Given the description of an element on the screen output the (x, y) to click on. 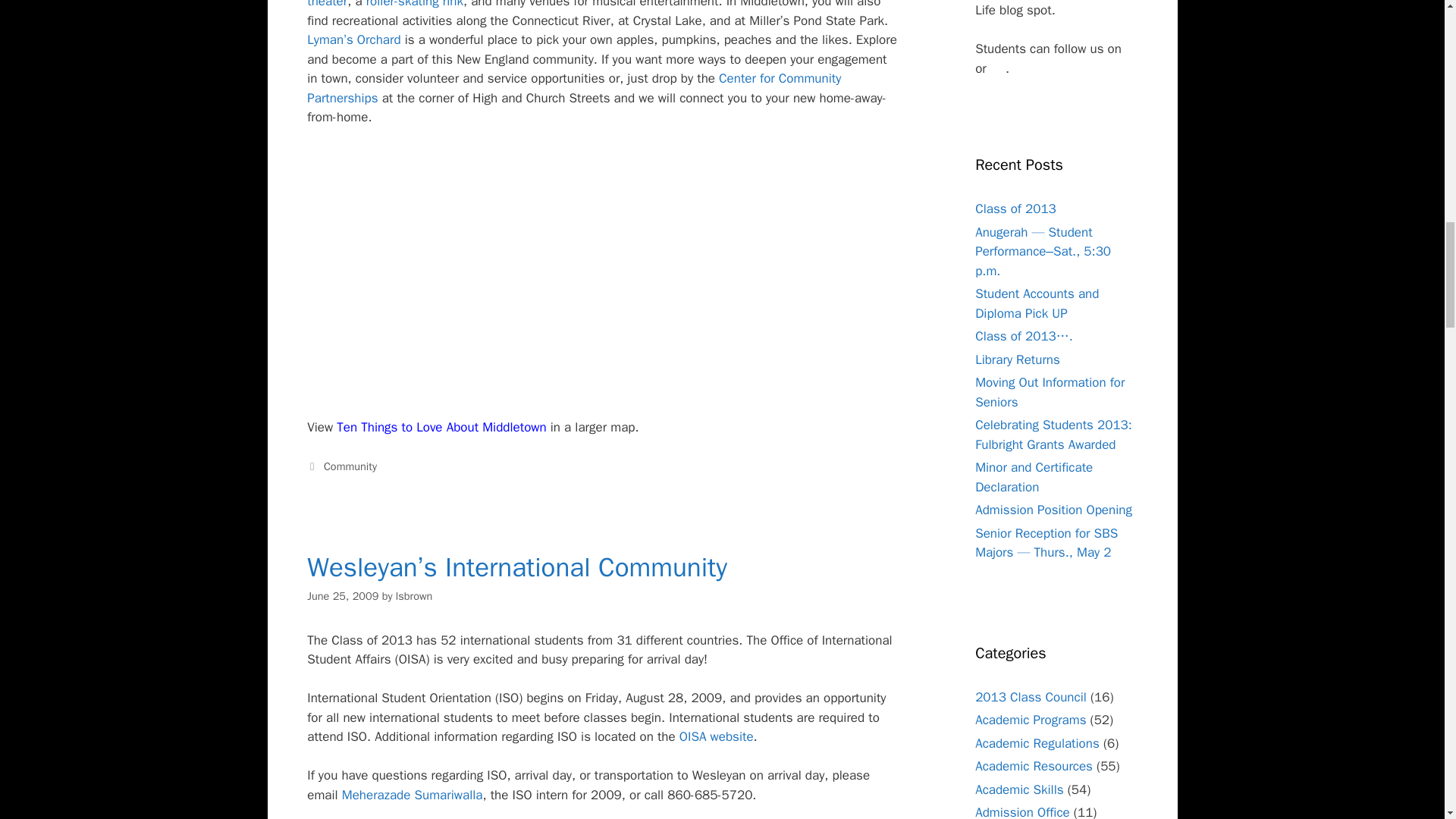
View all posts by lsbrown (414, 595)
